Given the description of an element on the screen output the (x, y) to click on. 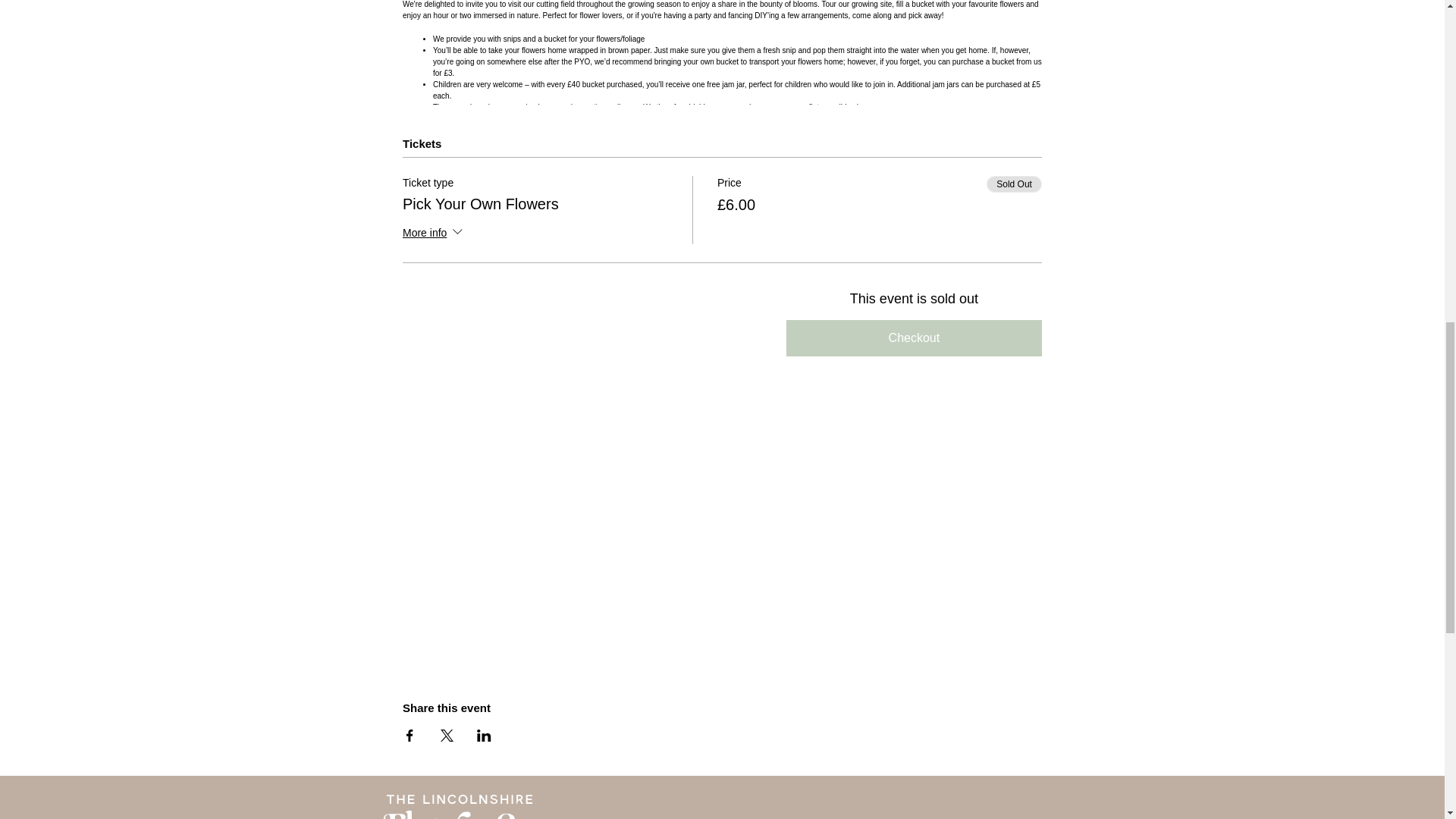
More info (434, 233)
Checkout (914, 338)
